Given the description of an element on the screen output the (x, y) to click on. 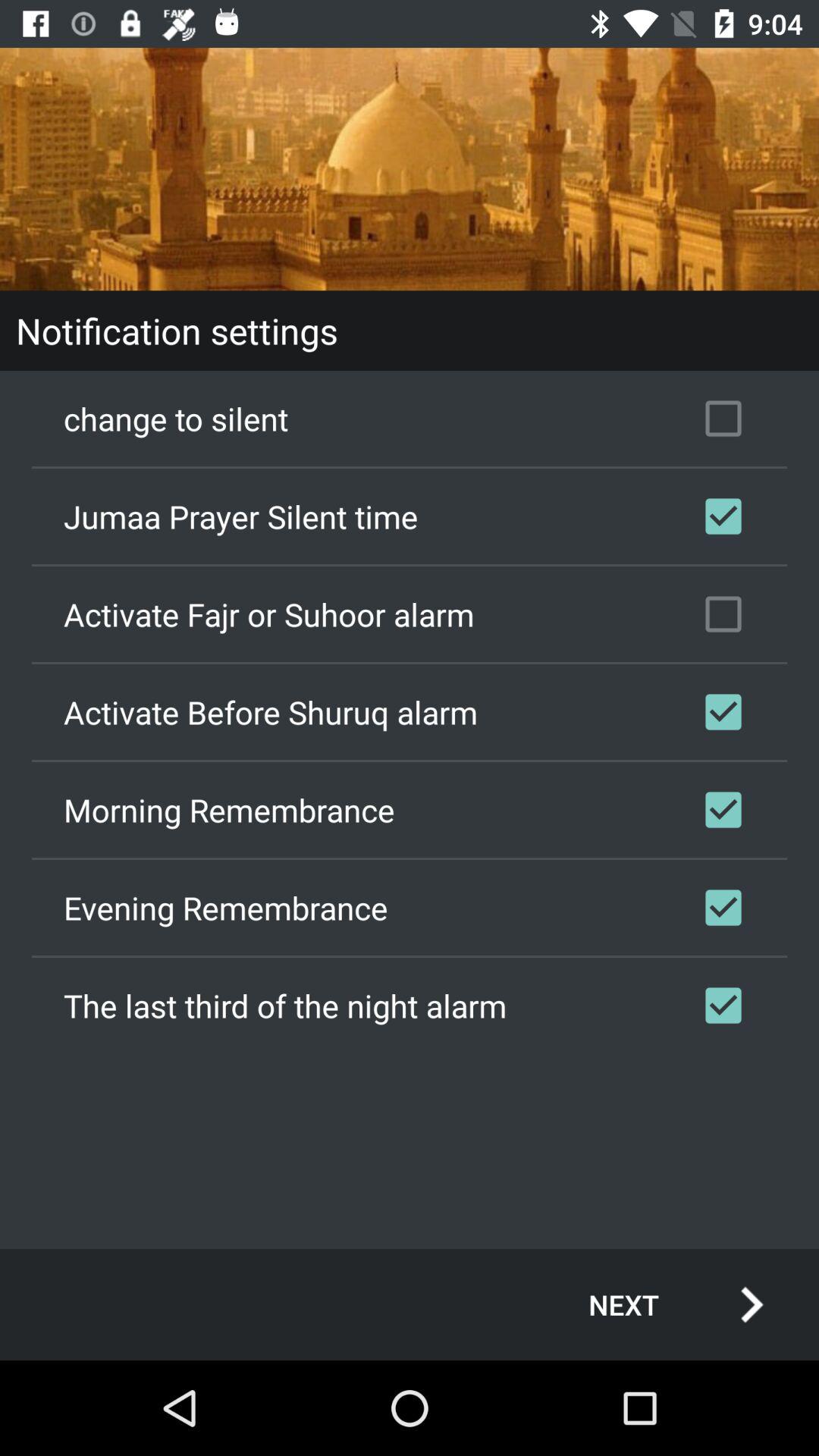
flip to the change to silent item (409, 418)
